Given the description of an element on the screen output the (x, y) to click on. 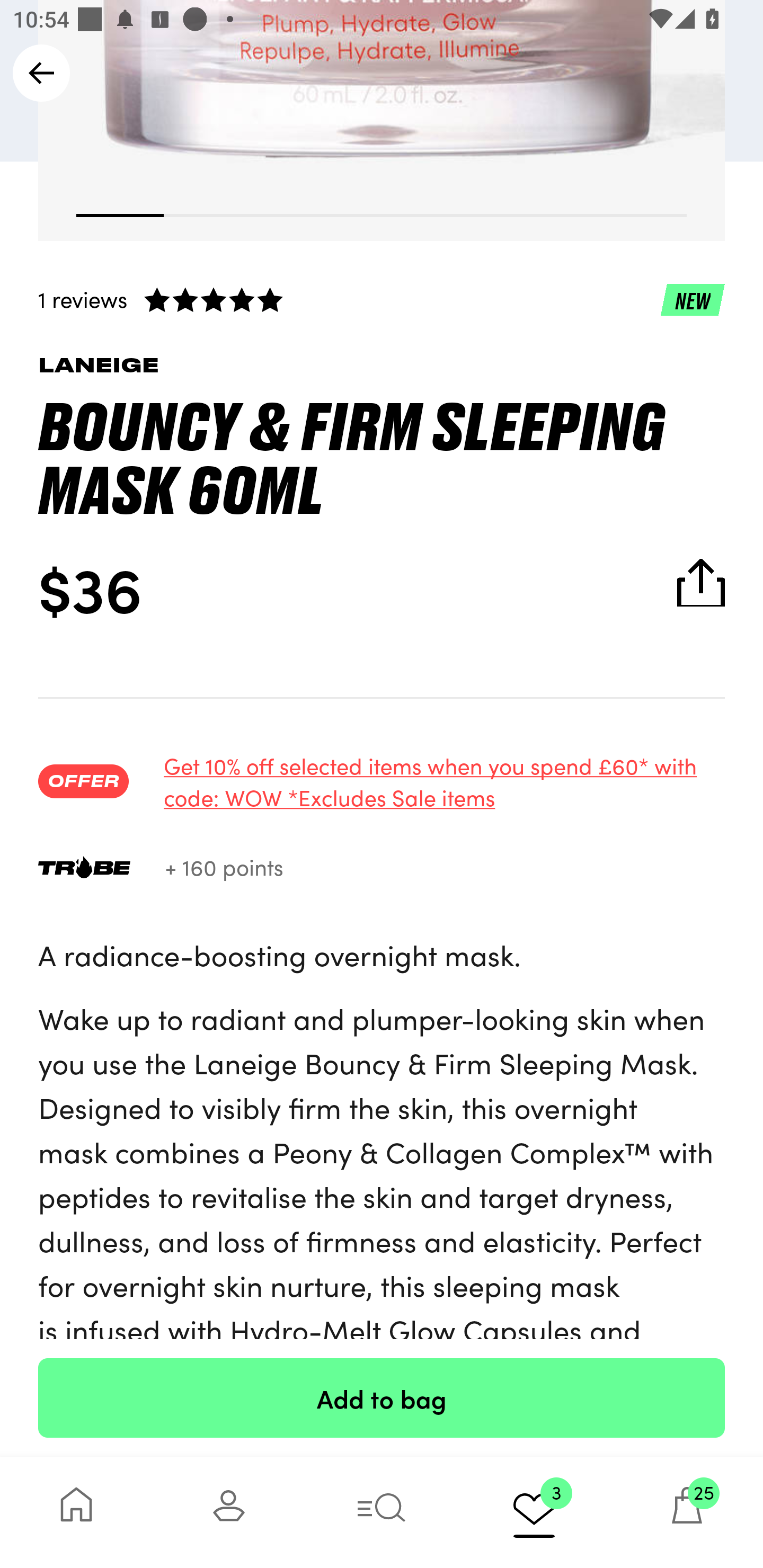
1 reviews (381, 298)
Add to bag (381, 1397)
3 (533, 1512)
25 (686, 1512)
